Given the description of an element on the screen output the (x, y) to click on. 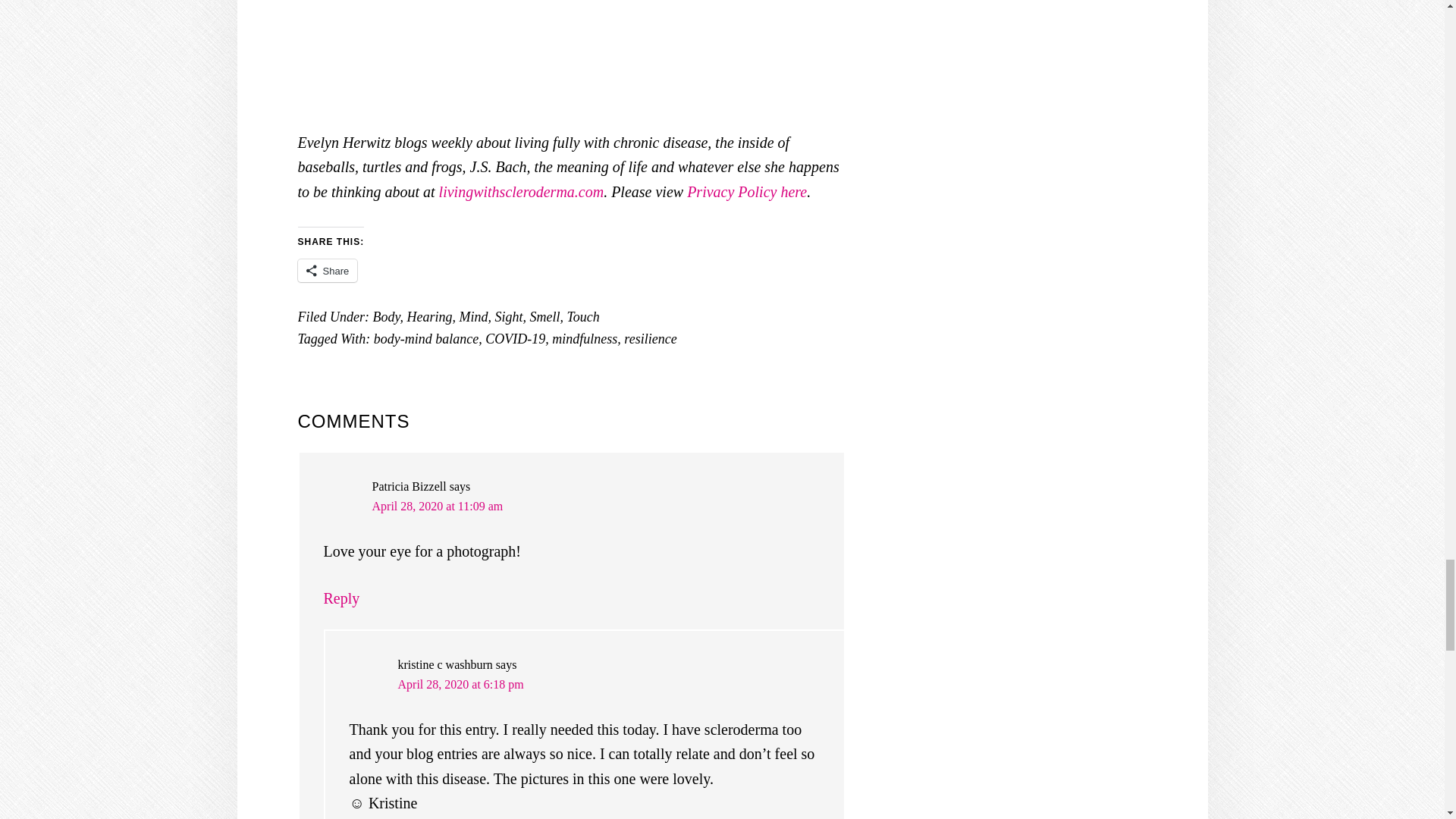
livingwithscleroderma.com (521, 191)
Privacy Policy here (746, 191)
Share (326, 270)
